Given the description of an element on the screen output the (x, y) to click on. 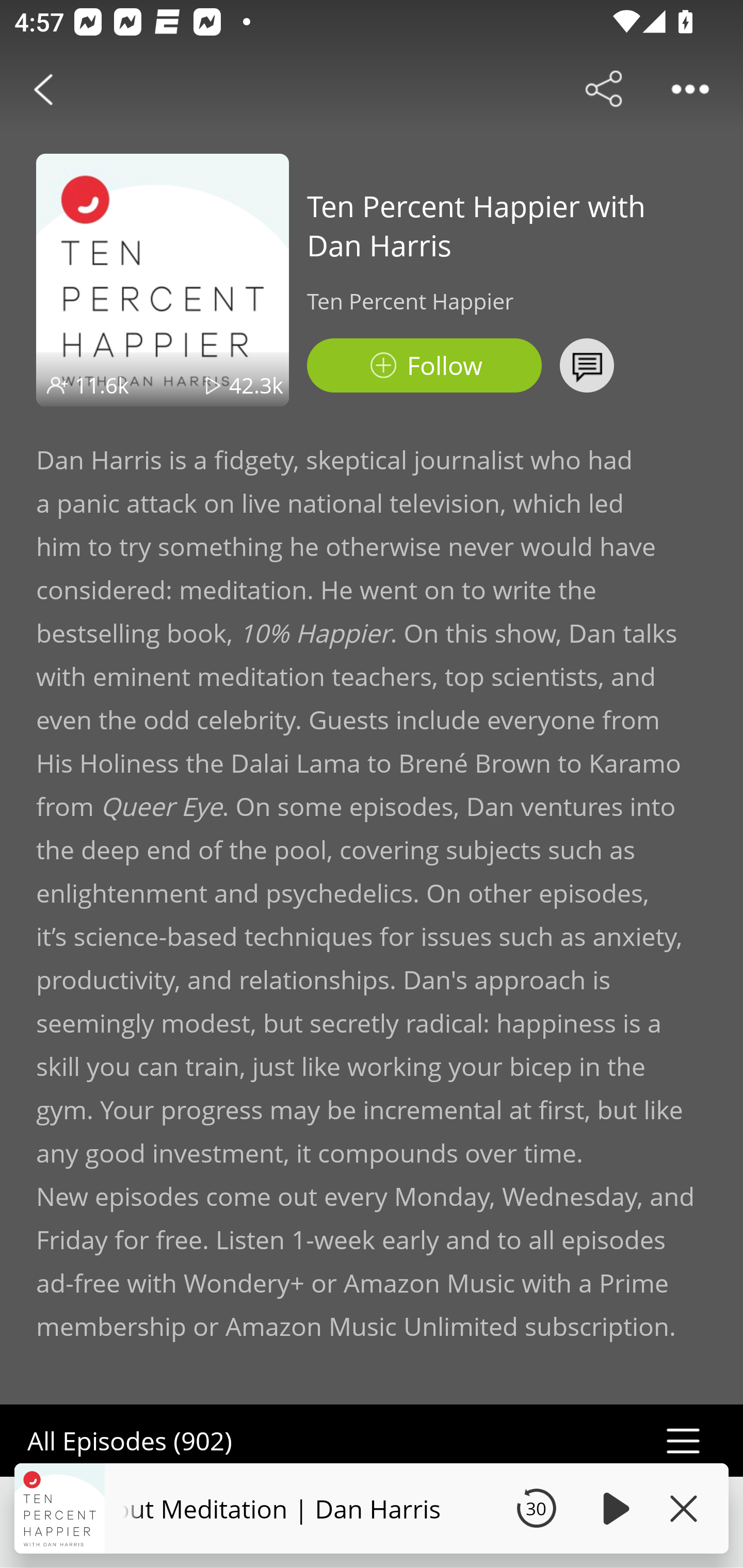
Back (43, 88)
Podbean Follow (423, 365)
11.6k (102, 384)
Play (613, 1507)
30 Seek Backward (536, 1508)
